Given the description of an element on the screen output the (x, y) to click on. 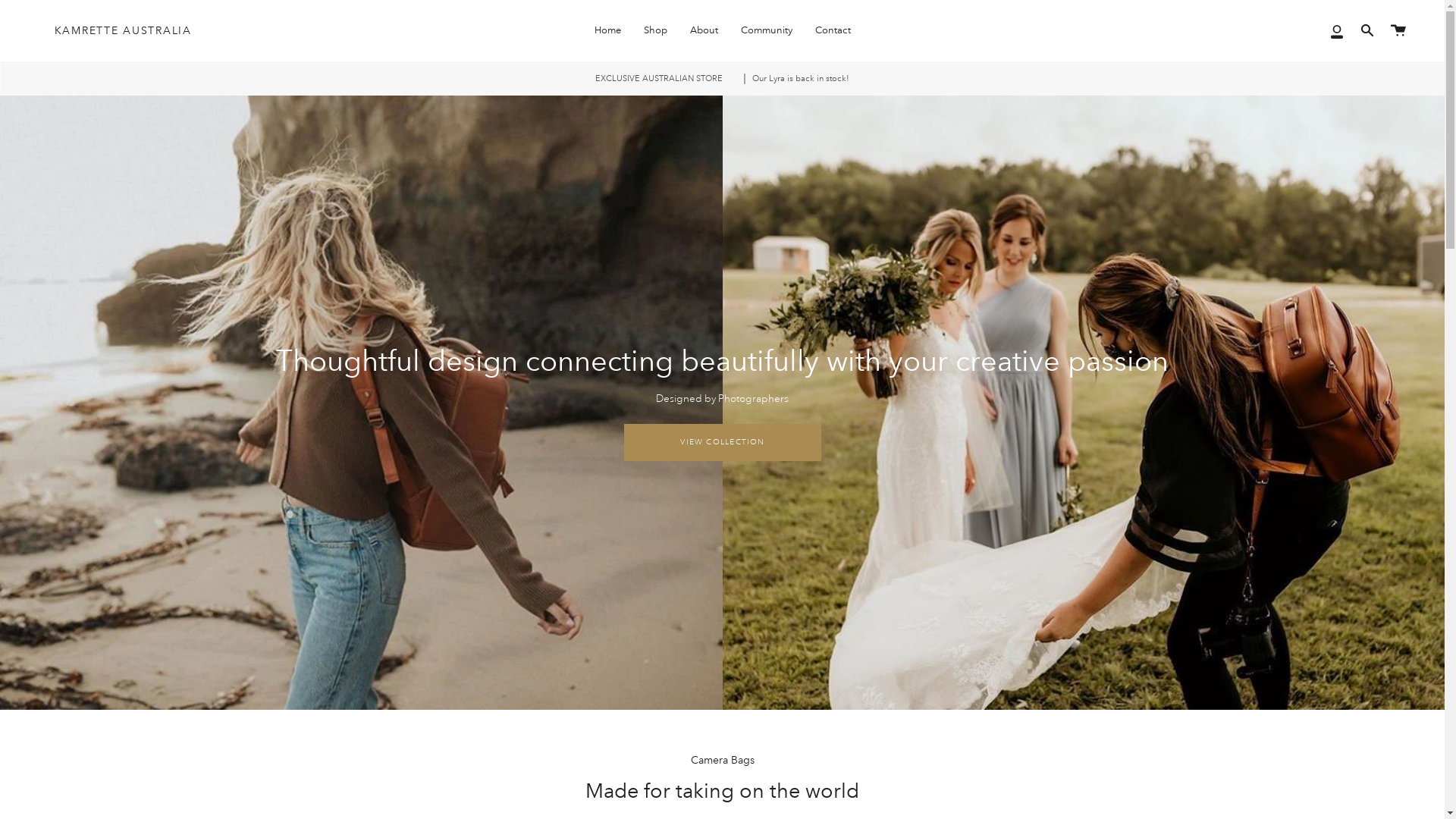
Cart Element type: text (1398, 30)
My Account Element type: text (1336, 30)
Shop Element type: text (655, 30)
Contact Element type: text (832, 30)
Community Element type: text (766, 30)
Search Element type: text (1367, 30)
About Element type: text (702, 30)
VIEW COLLECTION Element type: text (721, 442)
KAMRETTE AUSTRALIA Element type: text (122, 30)
Home Element type: text (606, 30)
